Given the description of an element on the screen output the (x, y) to click on. 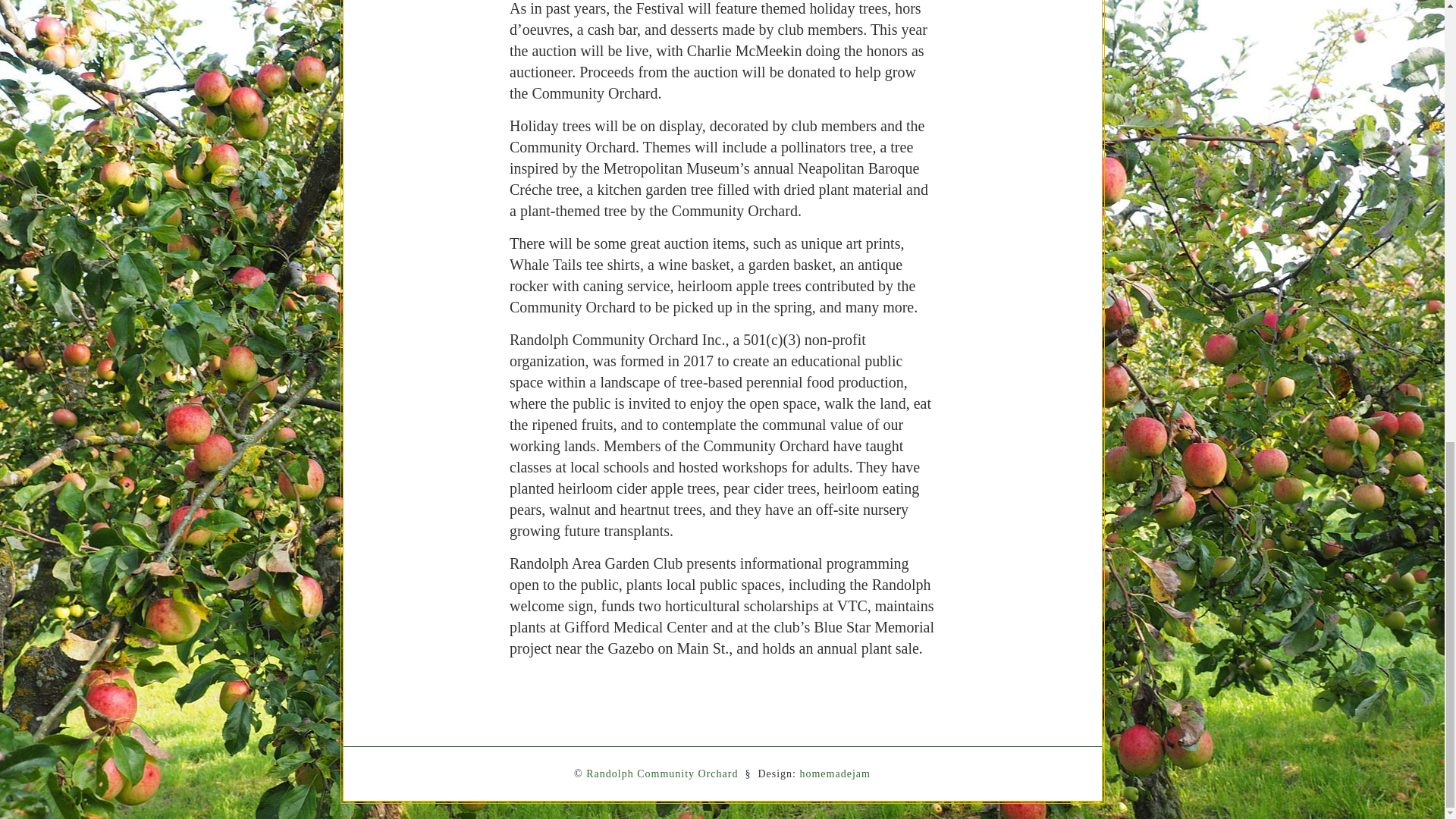
Randolph Community Orchard (662, 773)
homemadejam (834, 773)
